Given the description of an element on the screen output the (x, y) to click on. 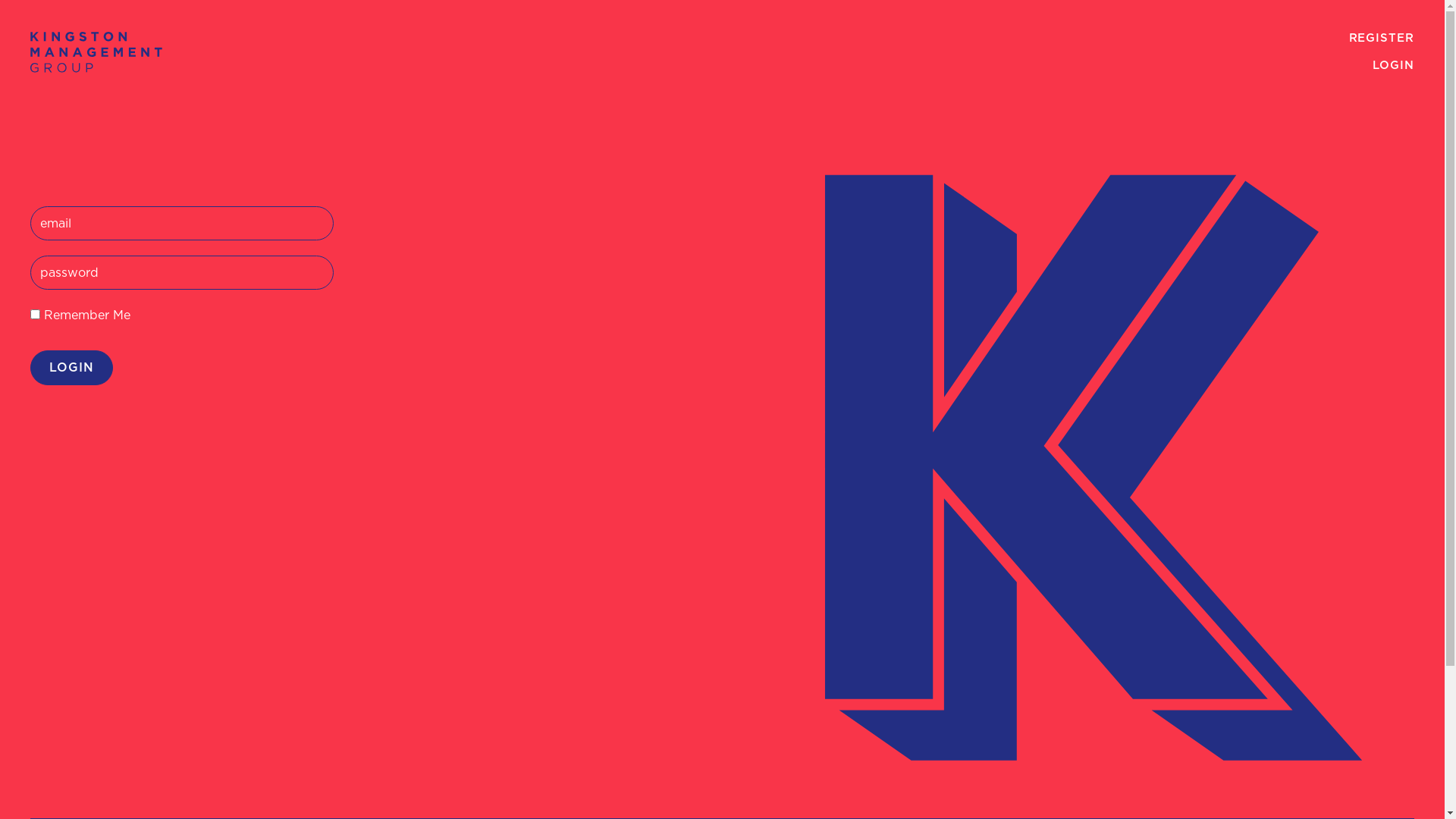
REGISTER Element type: text (1381, 37)
Login Element type: text (71, 367)
LOGIN Element type: text (1393, 64)
Kingston Management Group Element type: text (96, 51)
